Given the description of an element on the screen output the (x, y) to click on. 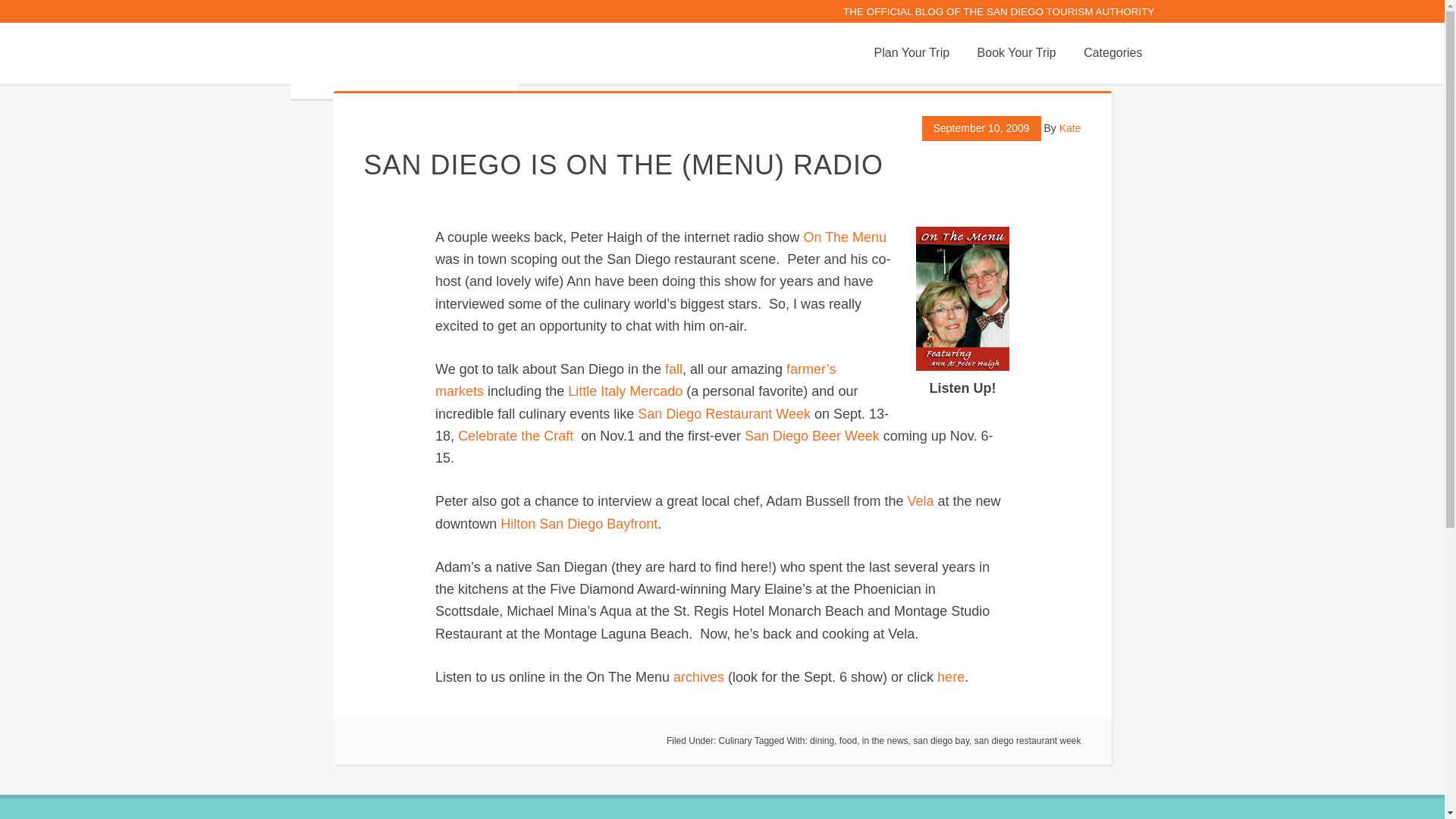
Celebrate the Craft (517, 435)
San Diego Beer Week (811, 435)
san diego bay (940, 740)
archives  (700, 676)
Vela (922, 500)
fall (673, 368)
On The Menu (844, 237)
On The Menu Radio (962, 298)
Plan Your Trip (911, 52)
food (848, 740)
SAN DIEGO TRAVEL BLOG (402, 60)
Book Your Trip (1016, 52)
san diego restaurant week (1027, 740)
Hilton San Diego Bayfront (579, 523)
Little Italy Mercado (626, 391)
